Given the description of an element on the screen output the (x, y) to click on. 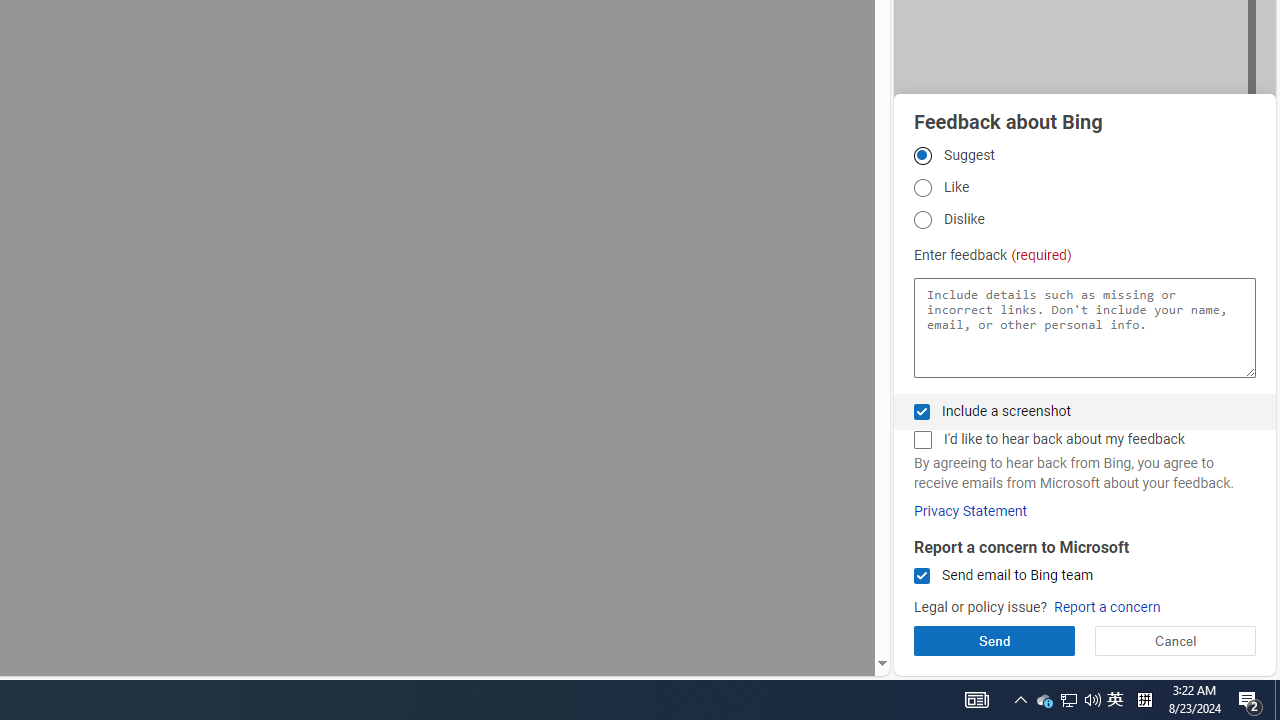
Report a concern (1106, 607)
Privacy Statement (970, 511)
Send (994, 640)
Include a screenshot (921, 411)
I'd like to hear back about my feedback (922, 440)
Suggest (922, 155)
Send email to Bing team (921, 575)
Cancel (1174, 640)
